Given the description of an element on the screen output the (x, y) to click on. 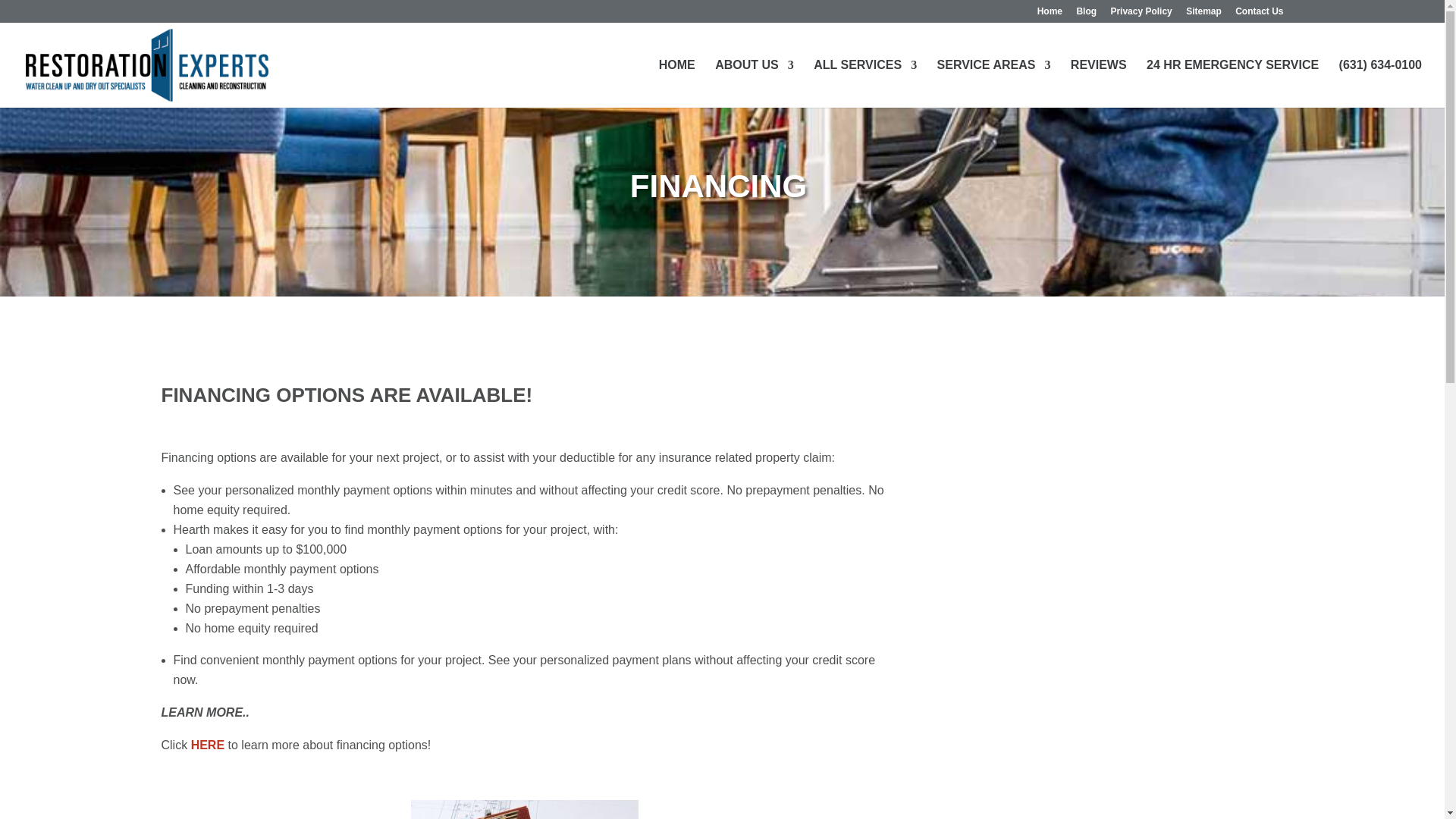
24 HR EMERGENCY SERVICE (1233, 83)
SERVICE AREAS (994, 83)
ABOUT US (753, 83)
Home (1049, 14)
ALL SERVICES (865, 83)
Privacy Policy (1140, 14)
Sitemap (1203, 14)
Blog (1085, 14)
Contact Us (1258, 14)
REVIEWS (1098, 83)
